Given the description of an element on the screen output the (x, y) to click on. 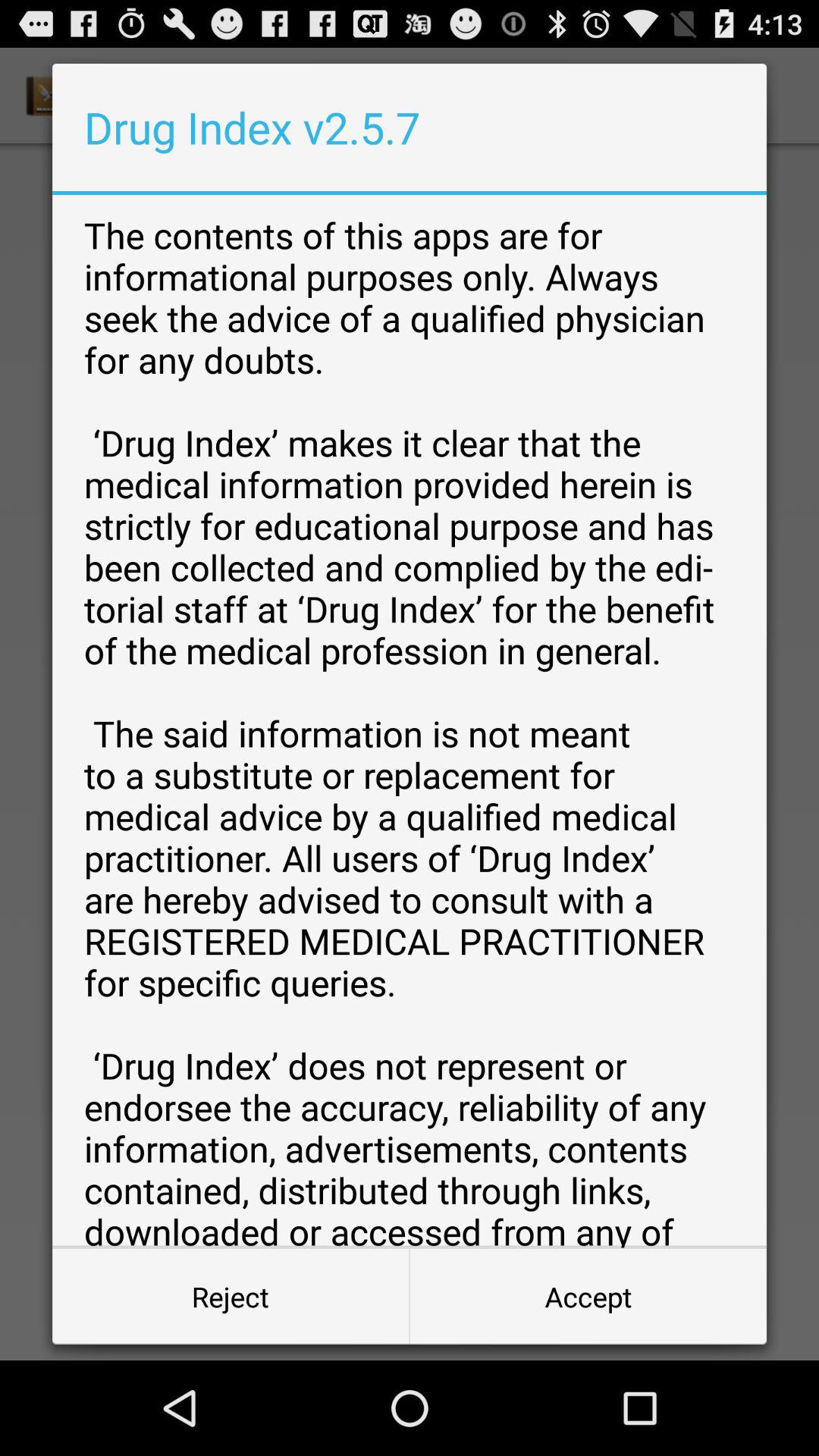
launch app below the the contents of app (230, 1296)
